Given the description of an element on the screen output the (x, y) to click on. 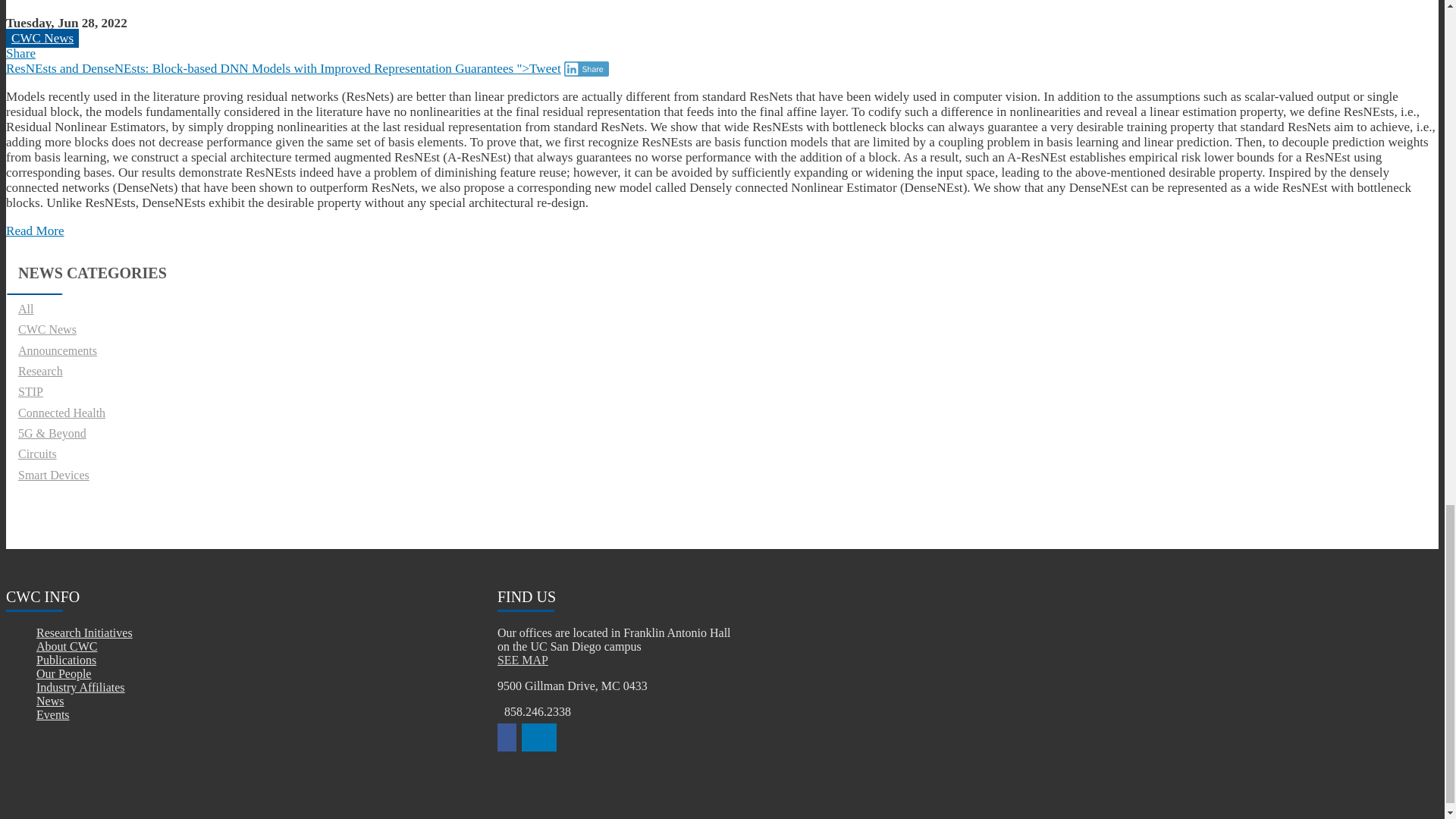
CWC News (41, 37)
